Given the description of an element on the screen output the (x, y) to click on. 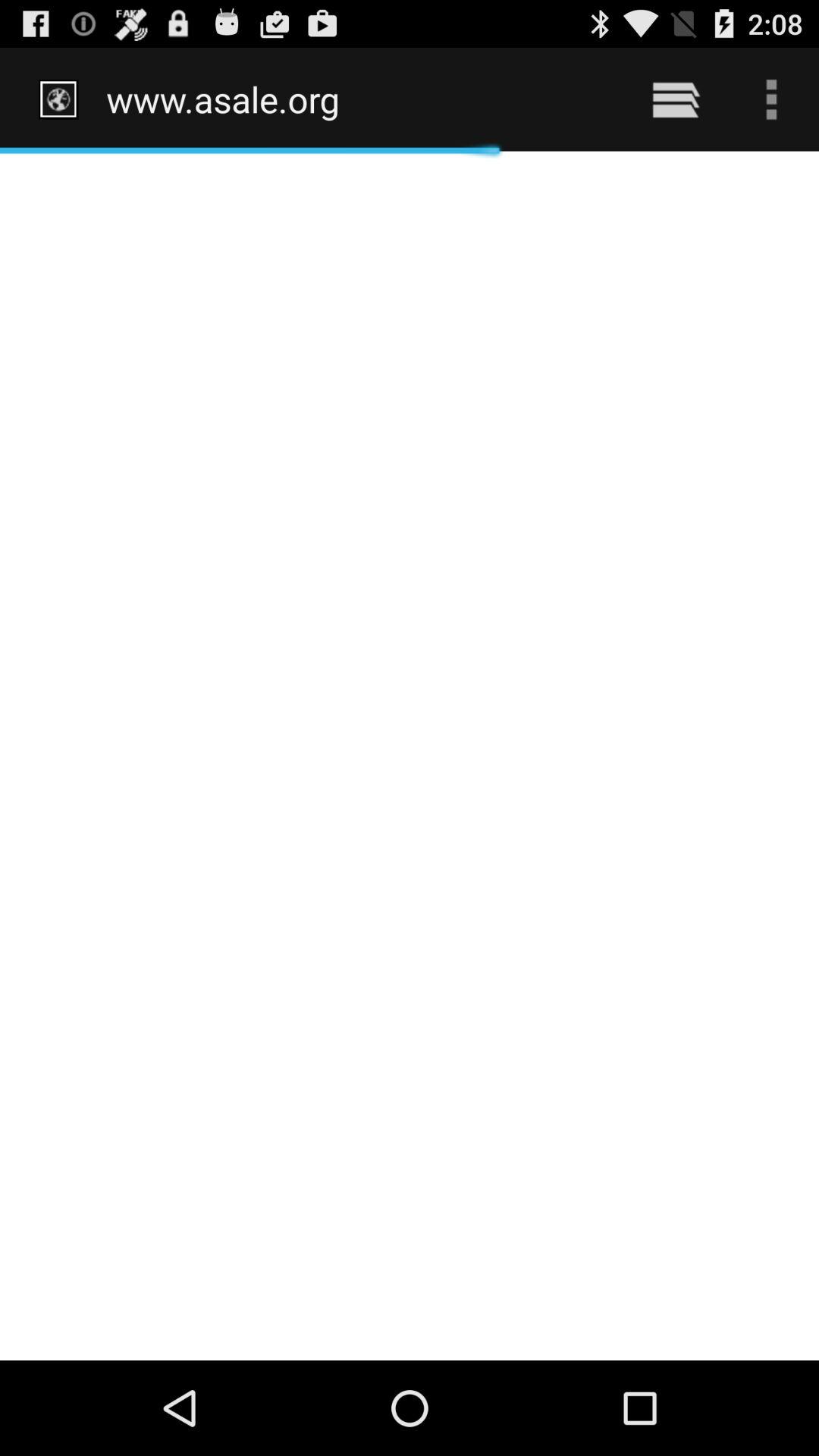
select icon next to the http www asale item (675, 99)
